Given the description of an element on the screen output the (x, y) to click on. 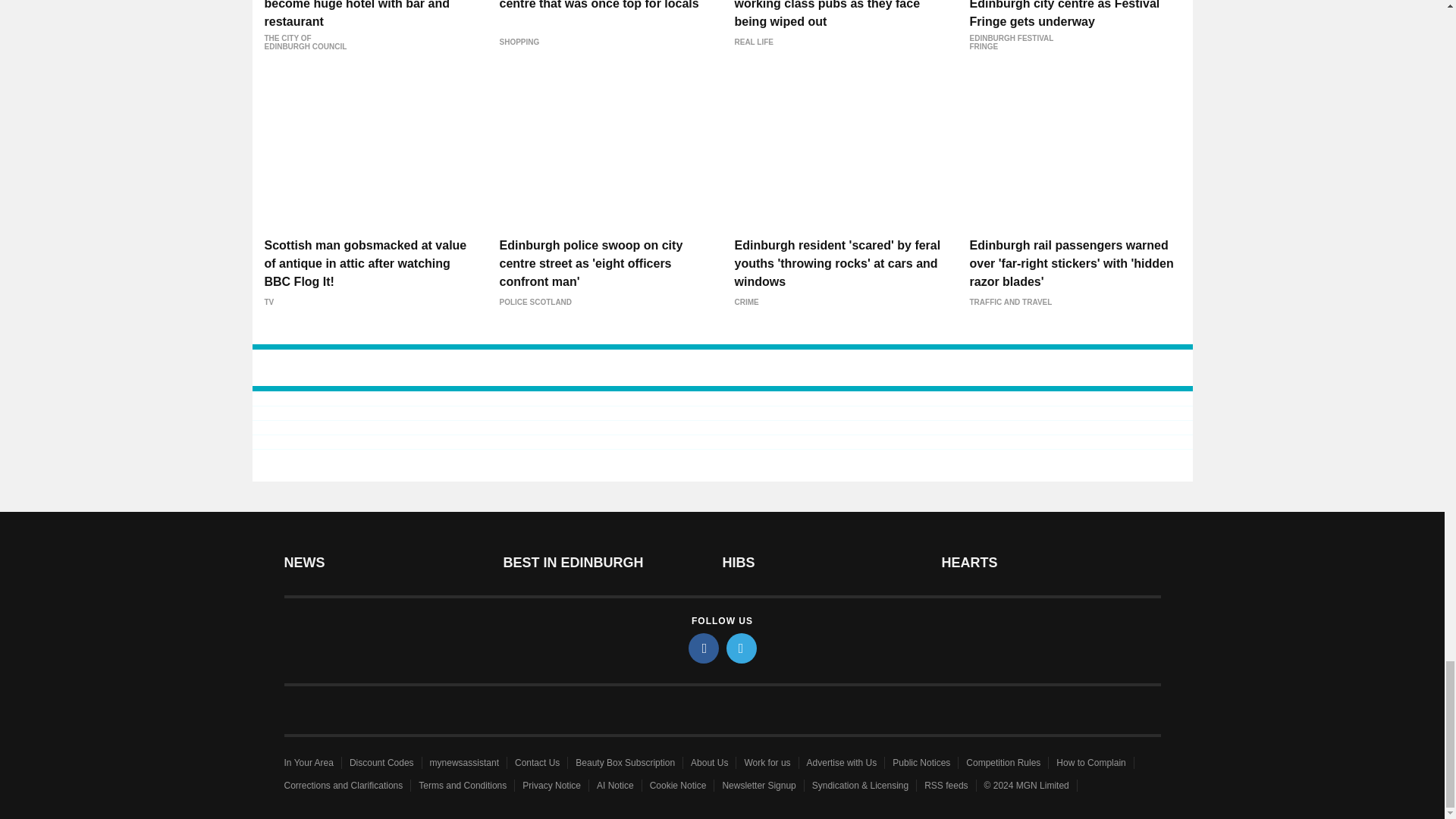
facebook (703, 648)
twitter (741, 648)
